Given the description of an element on the screen output the (x, y) to click on. 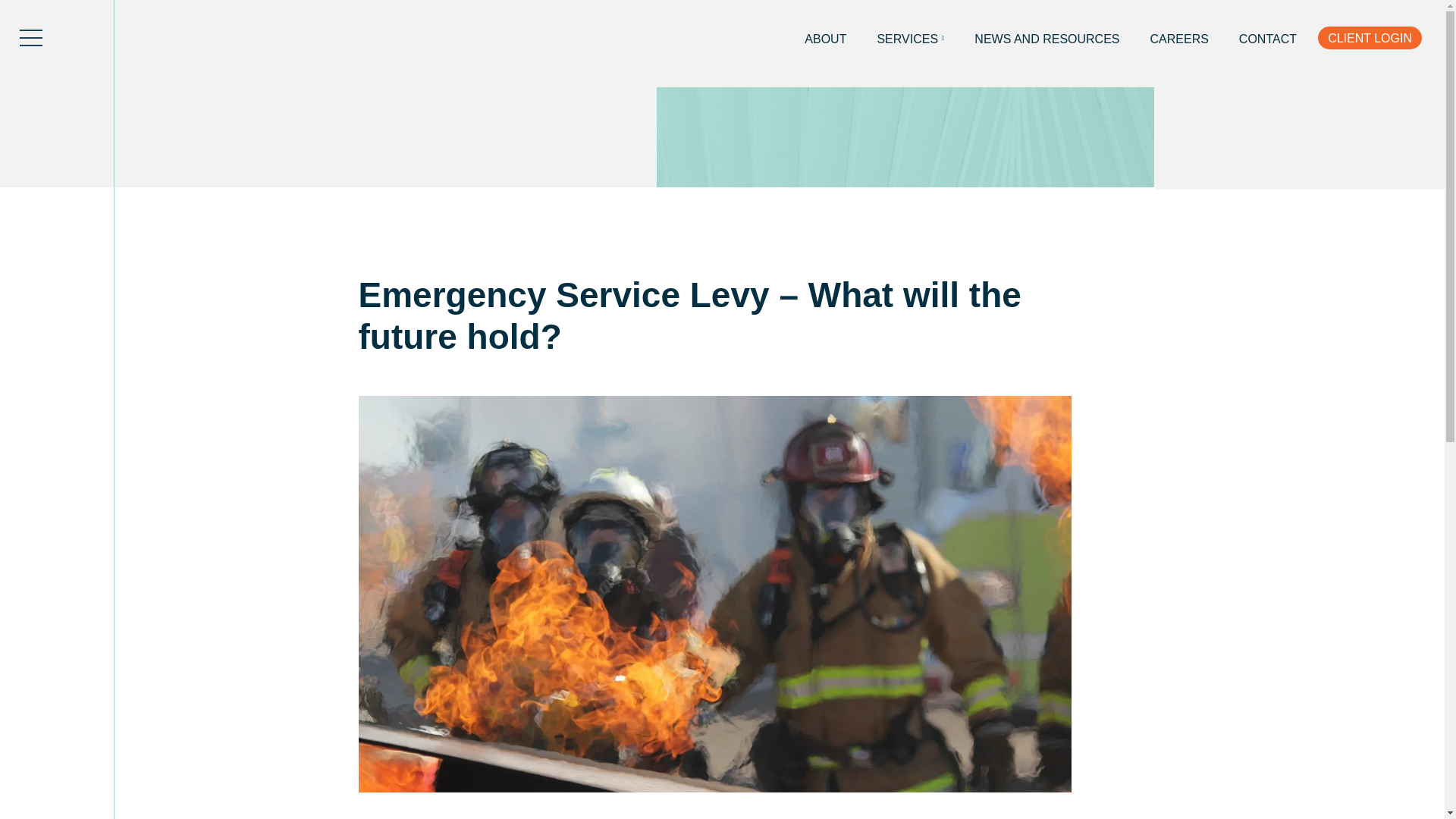
CAREERS (1179, 39)
SERVICES (909, 39)
CLIENT LOGIN (1369, 37)
ABOUT (825, 39)
CONTACT (1267, 39)
NEWS AND RESOURCES (1046, 39)
